Given the description of an element on the screen output the (x, y) to click on. 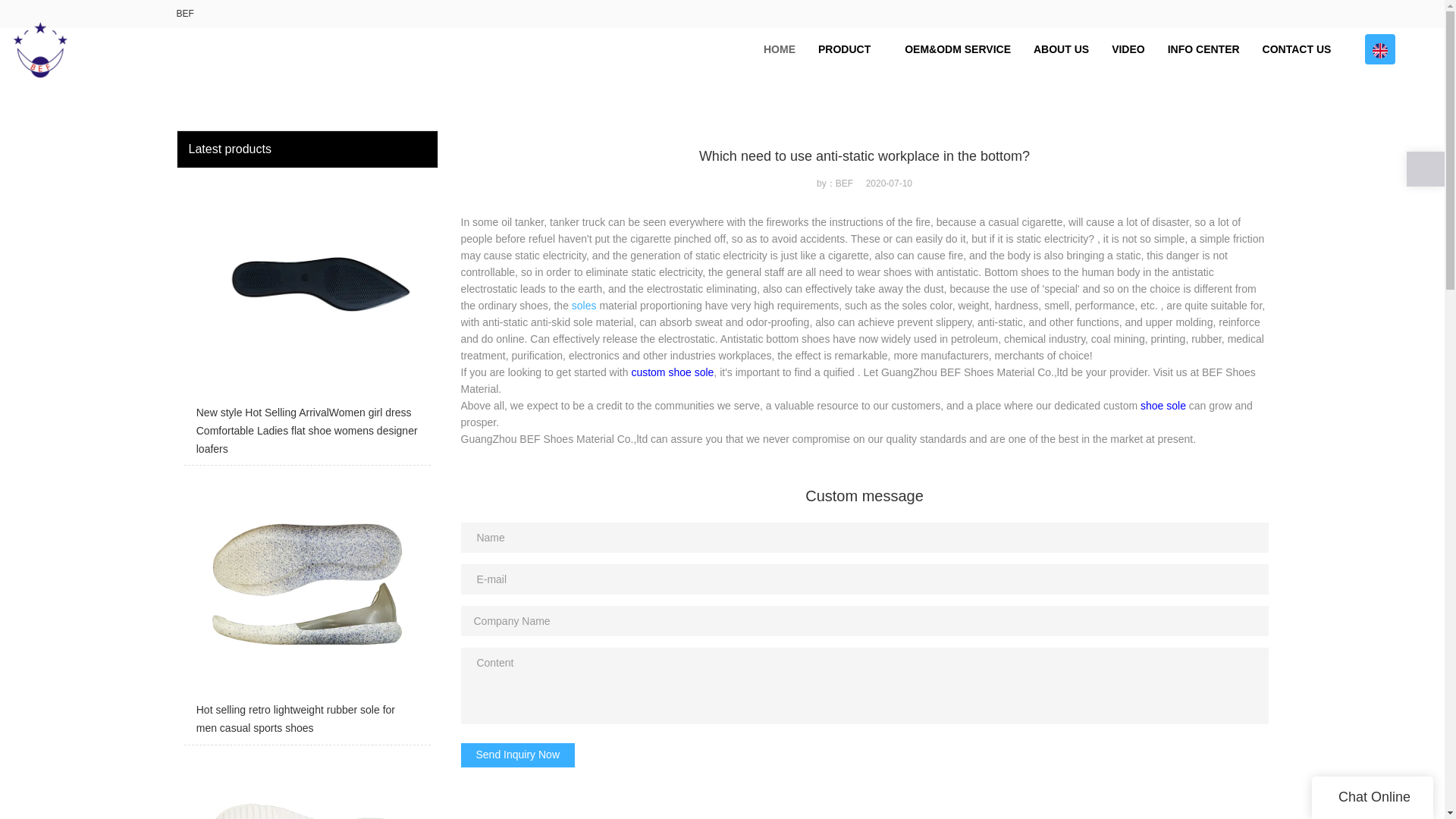
soles (584, 305)
shoe sole (1163, 405)
INFO CENTER (1203, 49)
ABOUT US (1061, 49)
PRODUCT (849, 49)
CONTACT US (1296, 49)
BEF (184, 13)
custom shoe sole (671, 372)
Send Inquiry Now (518, 754)
